Given the description of an element on the screen output the (x, y) to click on. 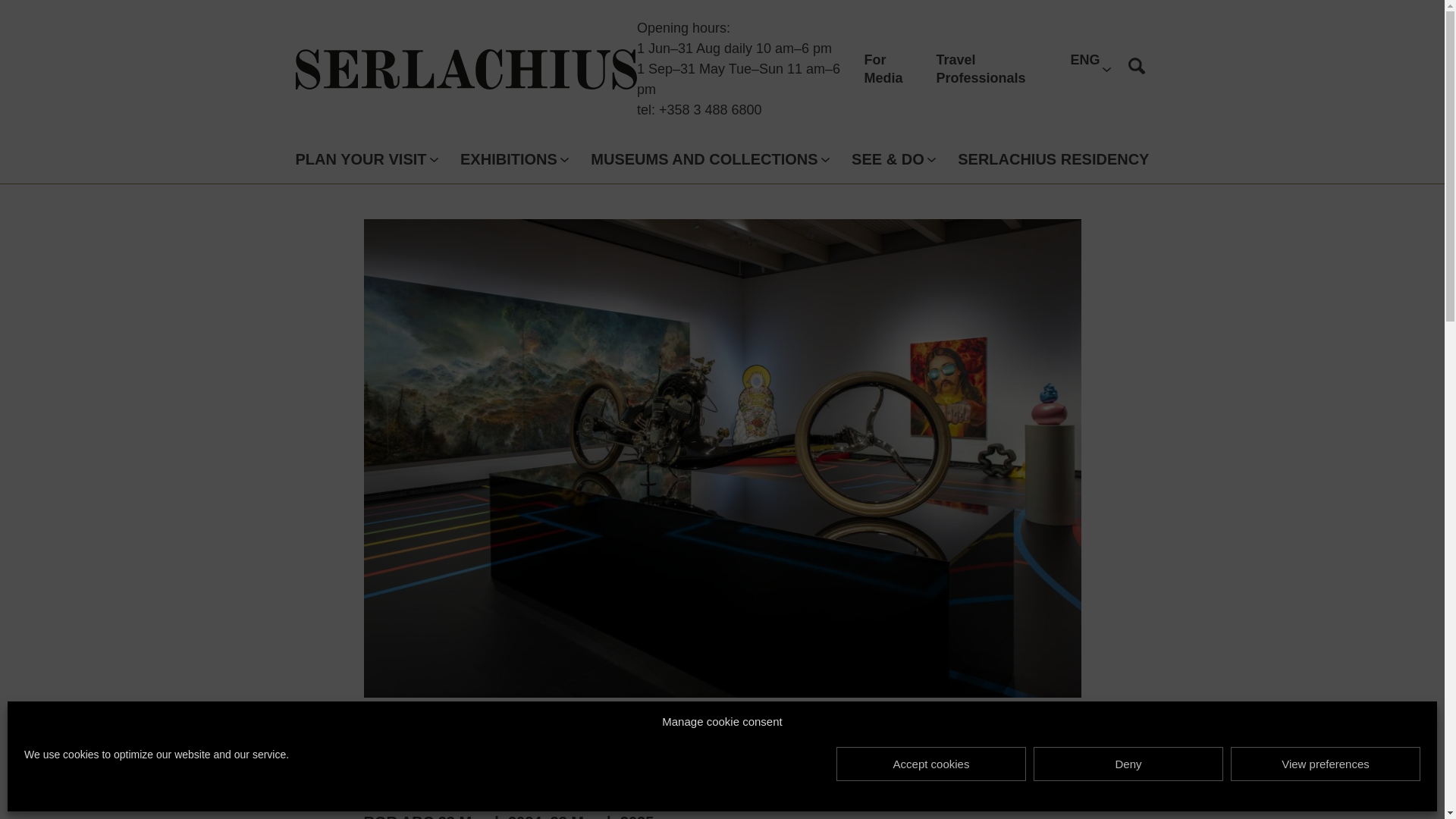
View preferences (1325, 763)
MUSEUMS AND COLLECTIONS (703, 159)
For Media (882, 68)
Travel Professionals (981, 68)
Deny (1128, 763)
EXHIBITIONS (508, 159)
PLAN YOUR VISIT (360, 159)
ENG (1084, 69)
Accept cookies (930, 763)
